Given the description of an element on the screen output the (x, y) to click on. 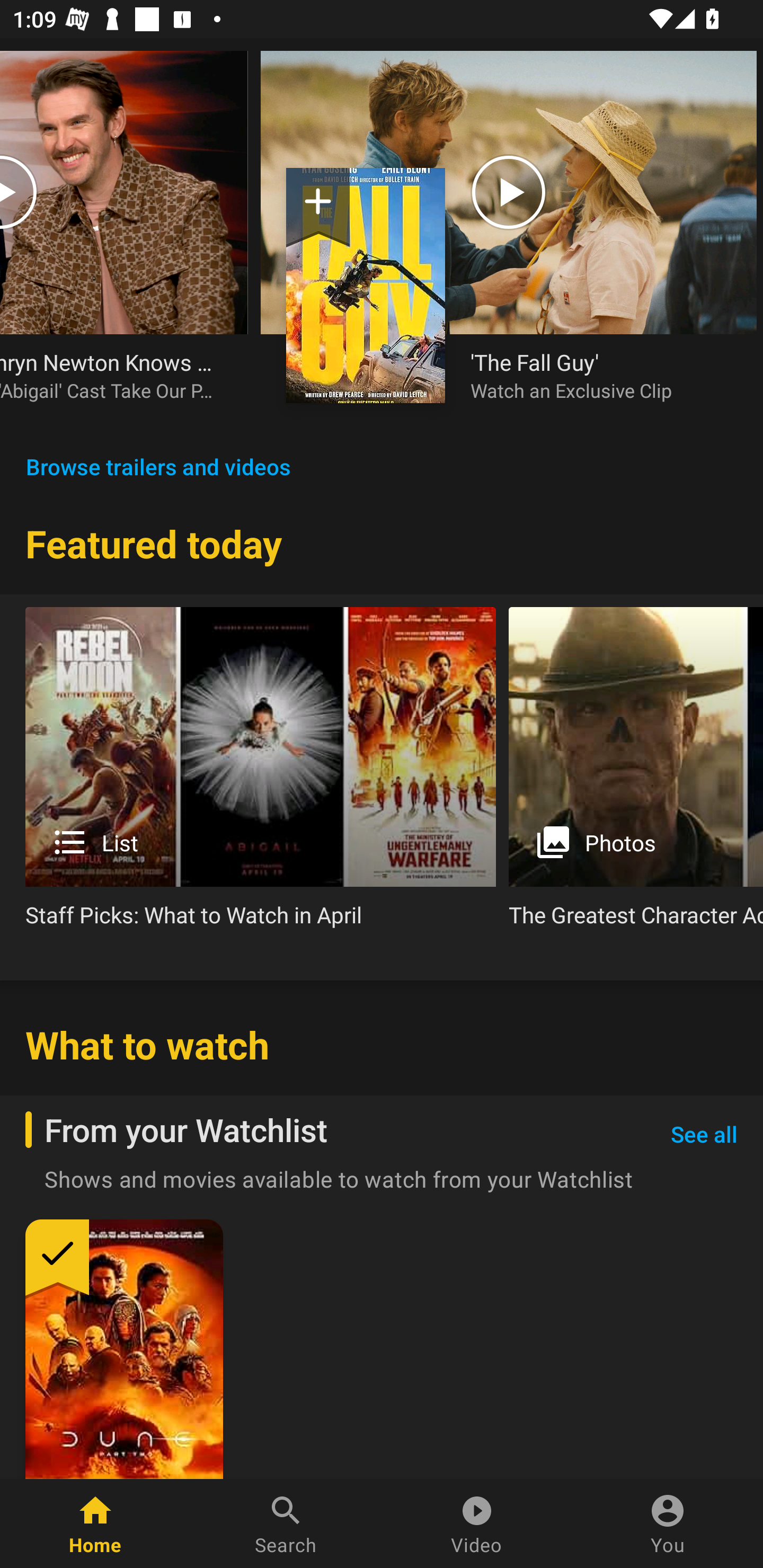
Not in watchlist (365, 284)
Not in watchlist (317, 207)
'The Fall Guy' Watch an Exclusive Clip (600, 374)
List Staff Picks: What to Watch in April (260, 774)
Photos The Greatest Character Actors of All Time (635, 774)
See all See all From your Watchlist (703, 1134)
Search (285, 1523)
Video (476, 1523)
You (667, 1523)
